Given the description of an element on the screen output the (x, y) to click on. 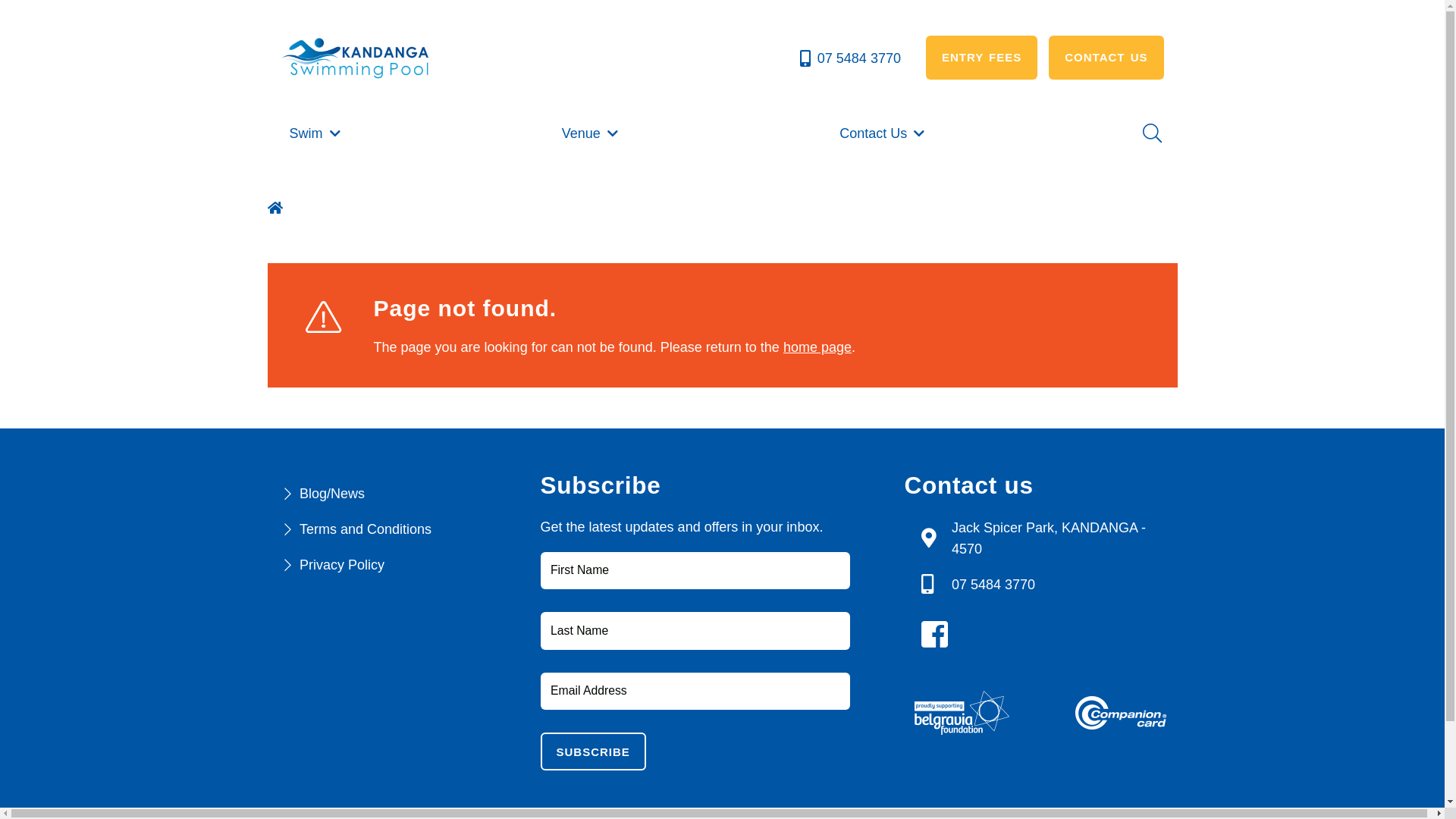
Blog/News Element type: text (331, 493)
  Element type: text (275, 206)
07 5484 3770 Element type: text (993, 584)
Privacy Policy Element type: text (341, 564)
Search Element type: text (1150, 133)
Contact Us Element type: text (883, 133)
Swim Element type: text (315, 133)
CONTACT US Element type: text (1105, 57)
07 5484 3770 Element type: text (848, 58)
Terms and Conditions Element type: text (365, 528)
home page Element type: text (817, 346)
Venue Element type: text (591, 133)
ENTRY FEES Element type: text (981, 57)
subscribe Element type: text (592, 751)
  Element type: text (938, 634)
